Given the description of an element on the screen output the (x, y) to click on. 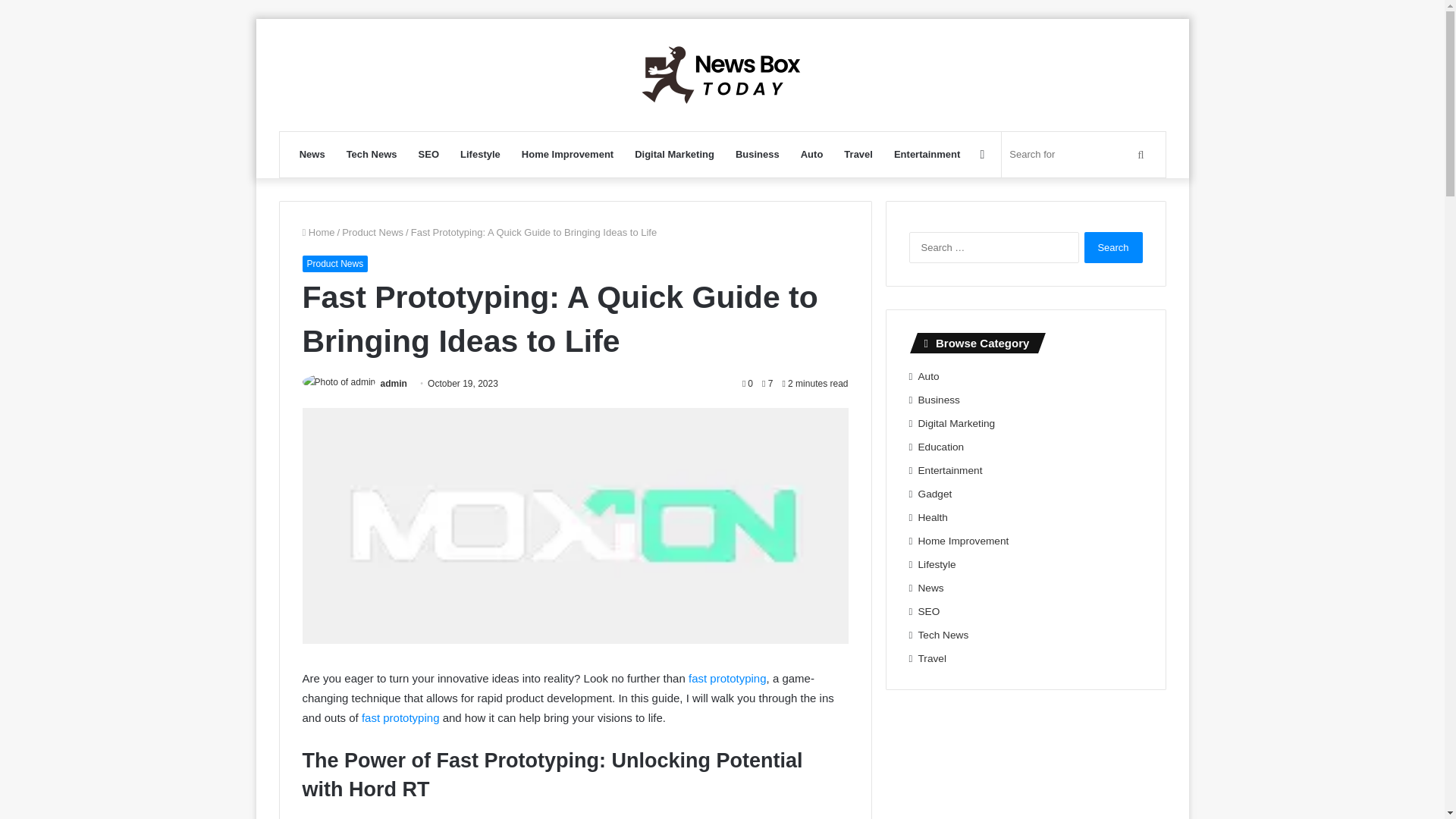
Hord RT (616, 818)
SEO (428, 154)
Search (1113, 246)
Home (317, 232)
Home Improvement (567, 154)
News Box Today (721, 74)
fast prototyping (727, 677)
Product News (334, 263)
Tech News (371, 154)
Business (757, 154)
admin (393, 383)
Entertainment (927, 154)
Product News (372, 232)
Lifestyle (480, 154)
News (312, 154)
